Given the description of an element on the screen output the (x, y) to click on. 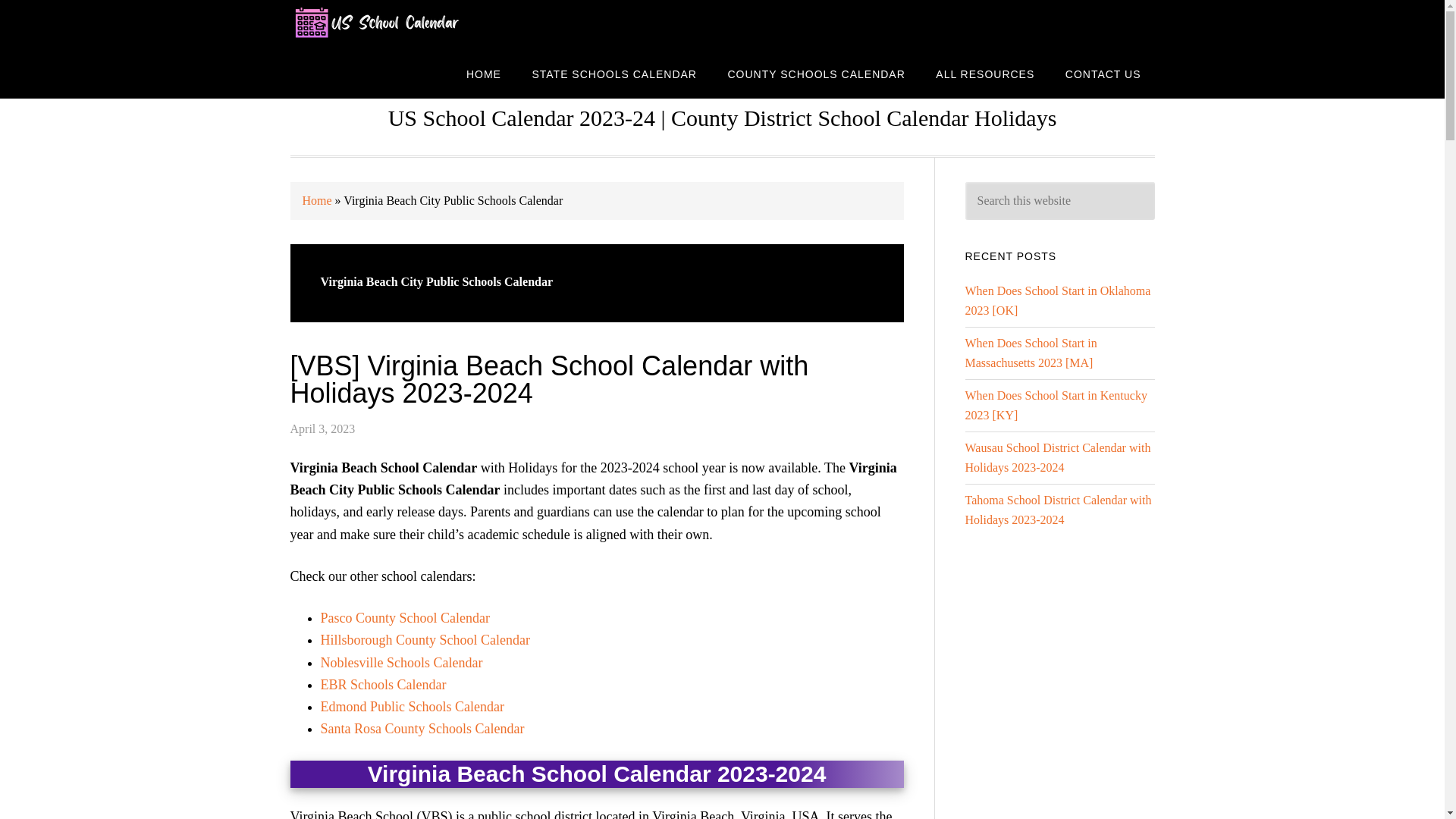
HOME (483, 73)
ALL RESOURCES (984, 73)
Santa Rosa County Schools Calendar (422, 728)
Home (316, 200)
CONTACT US (1102, 73)
US SCHOOL CALENDAR (410, 24)
